Given the description of an element on the screen output the (x, y) to click on. 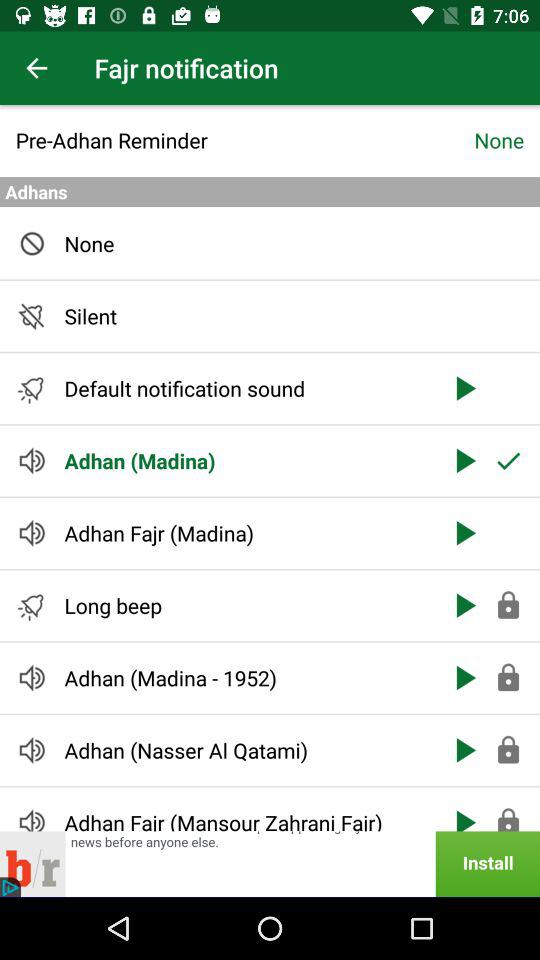
jump to the silent icon (245, 315)
